Given the description of an element on the screen output the (x, y) to click on. 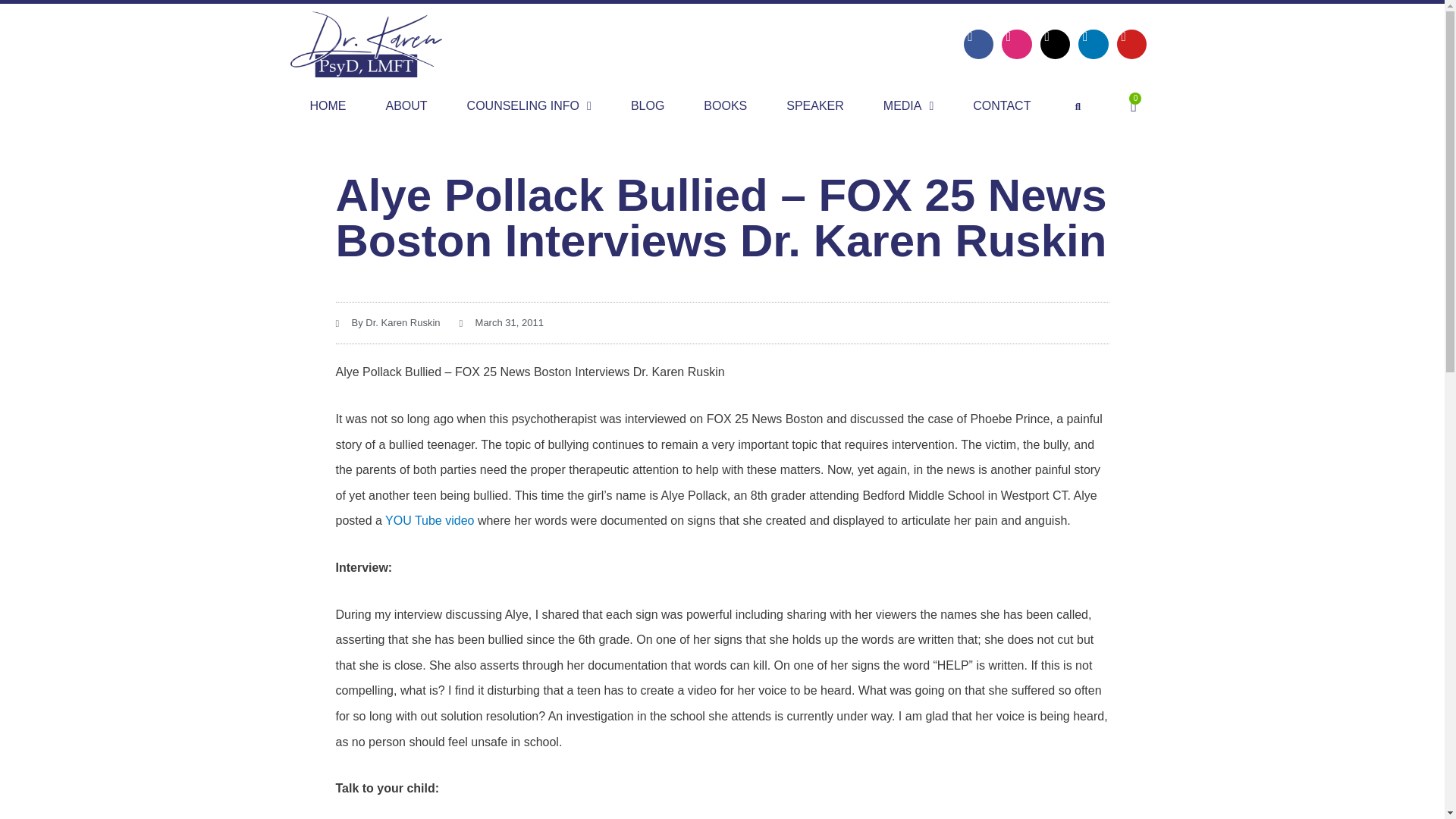
Youtube (1131, 44)
Bullied 8th grader's YOU Tube Video (1133, 105)
COUNSELING INFO (429, 520)
Facebook-f (528, 106)
SPEAKER (978, 44)
ABOUT (815, 106)
HOME (405, 106)
BLOG (327, 106)
BOOKS (647, 106)
X-twitter (725, 106)
CONTACT (1055, 44)
Instagram (1001, 106)
Linkedin (1016, 44)
MEDIA (1093, 44)
